Given the description of an element on the screen output the (x, y) to click on. 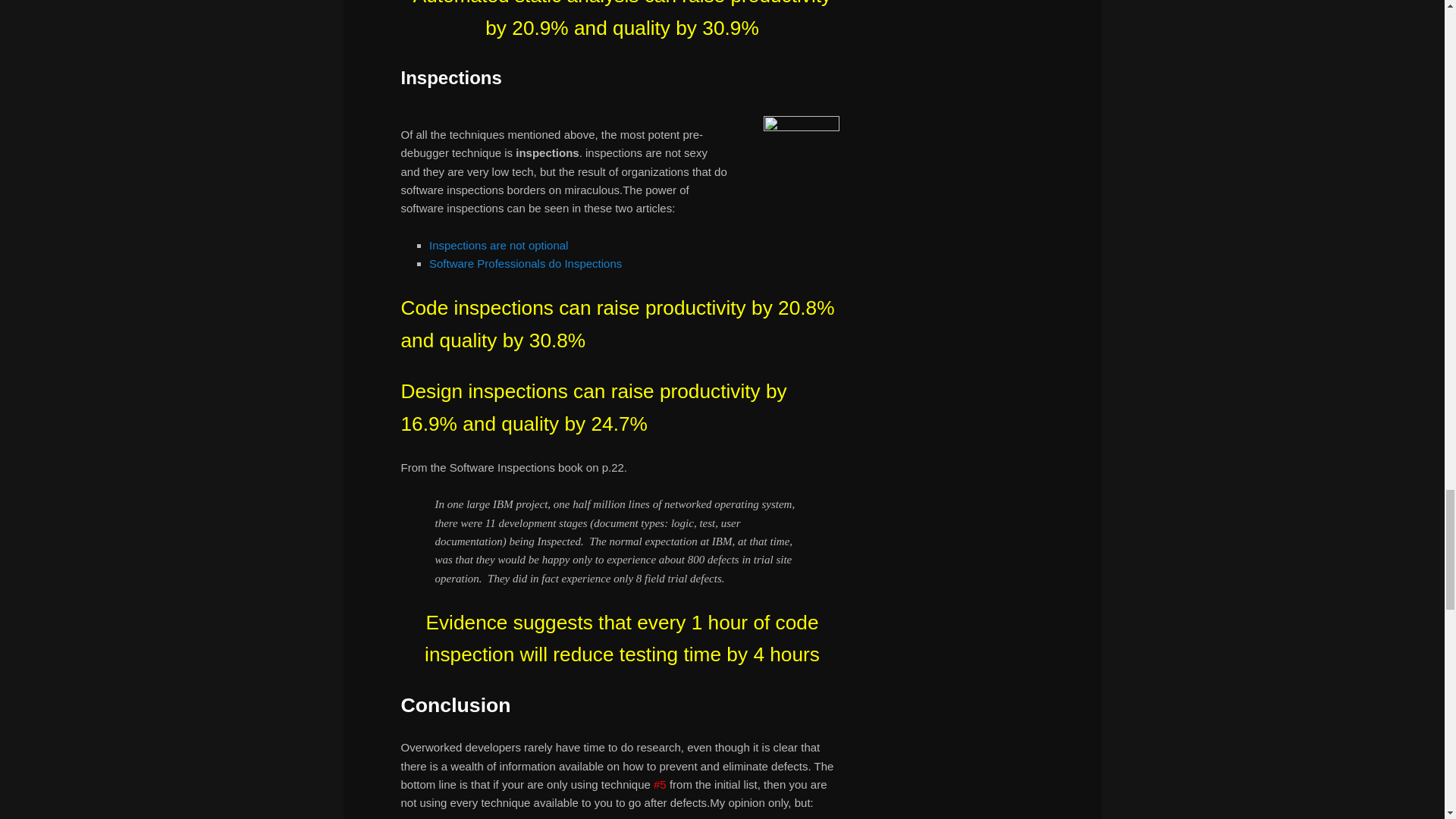
Inspections are not optional (498, 245)
Software Professionals do Inspections (525, 263)
